Given the description of an element on the screen output the (x, y) to click on. 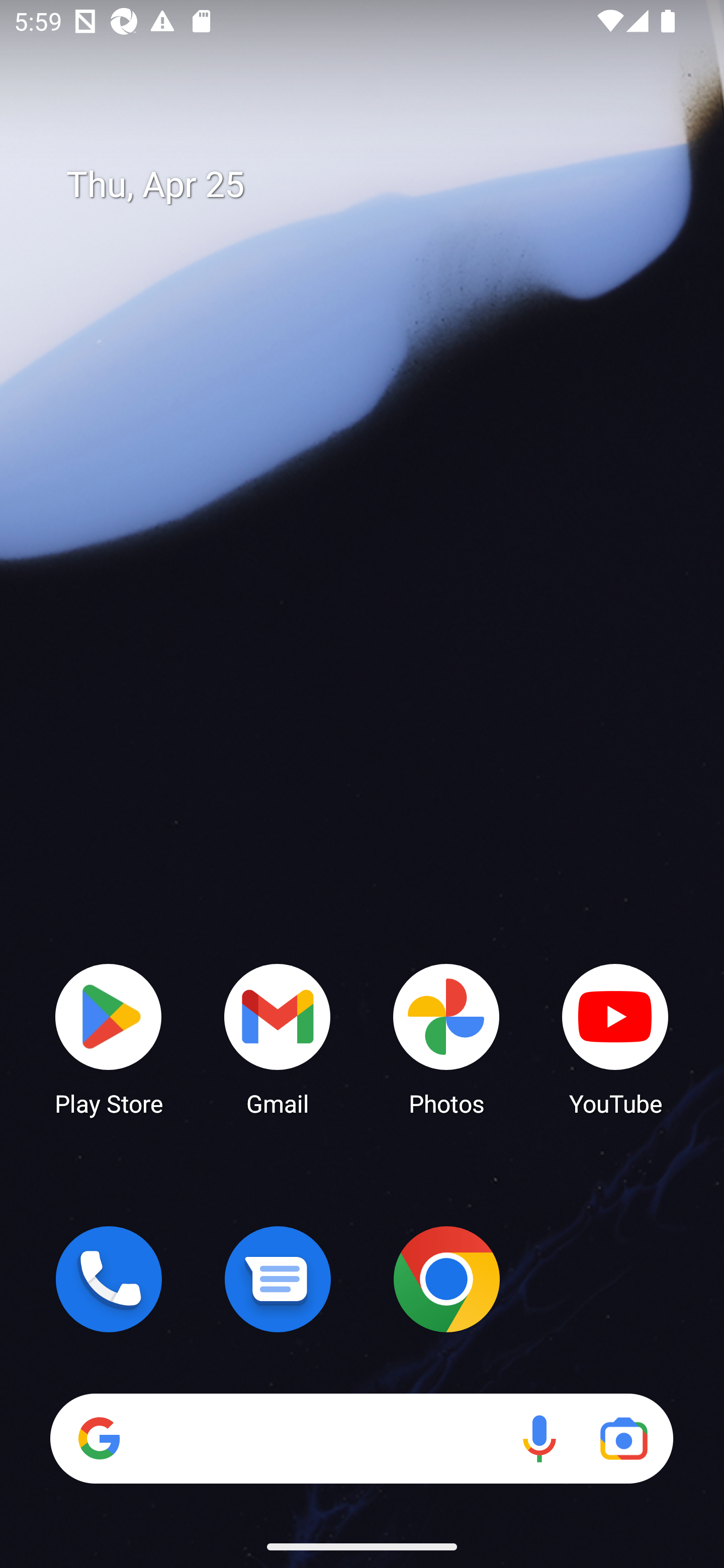
Thu, Apr 25 (375, 184)
Play Store (108, 1038)
Gmail (277, 1038)
Photos (445, 1038)
YouTube (615, 1038)
Phone (108, 1279)
Messages (277, 1279)
Chrome (446, 1279)
Search Voice search Google Lens (361, 1438)
Voice search (539, 1438)
Google Lens (623, 1438)
